Given the description of an element on the screen output the (x, y) to click on. 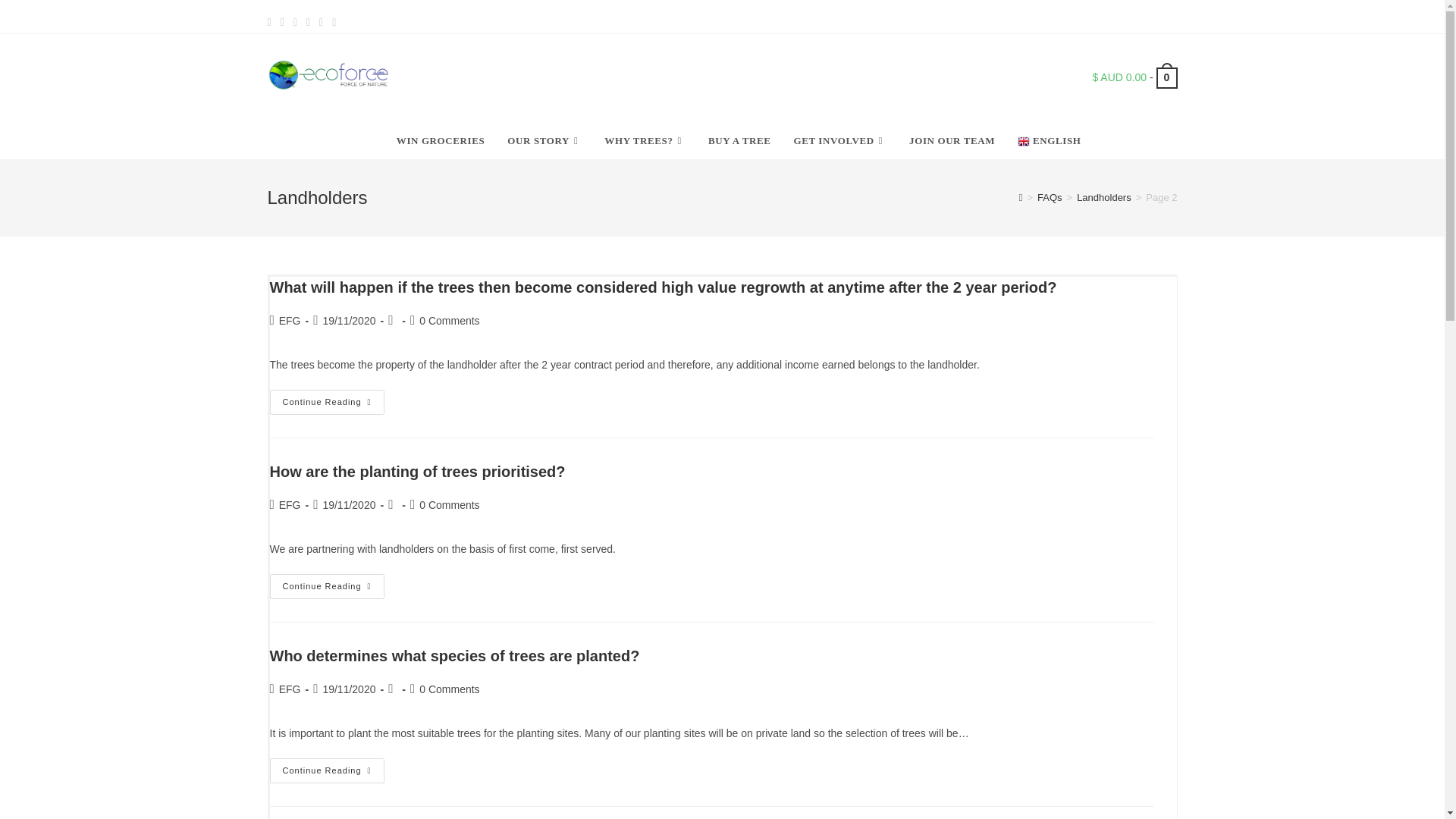
OUR STORY (544, 140)
Login (1099, 16)
Posts by EFG (290, 504)
Account (1132, 17)
Posts by EFG (290, 320)
GET INVOLVED (839, 140)
WIN GROCERIES (440, 140)
Posts by EFG (290, 689)
WHY TREES? (644, 140)
BUY A TREE (740, 140)
